Given the description of an element on the screen output the (x, y) to click on. 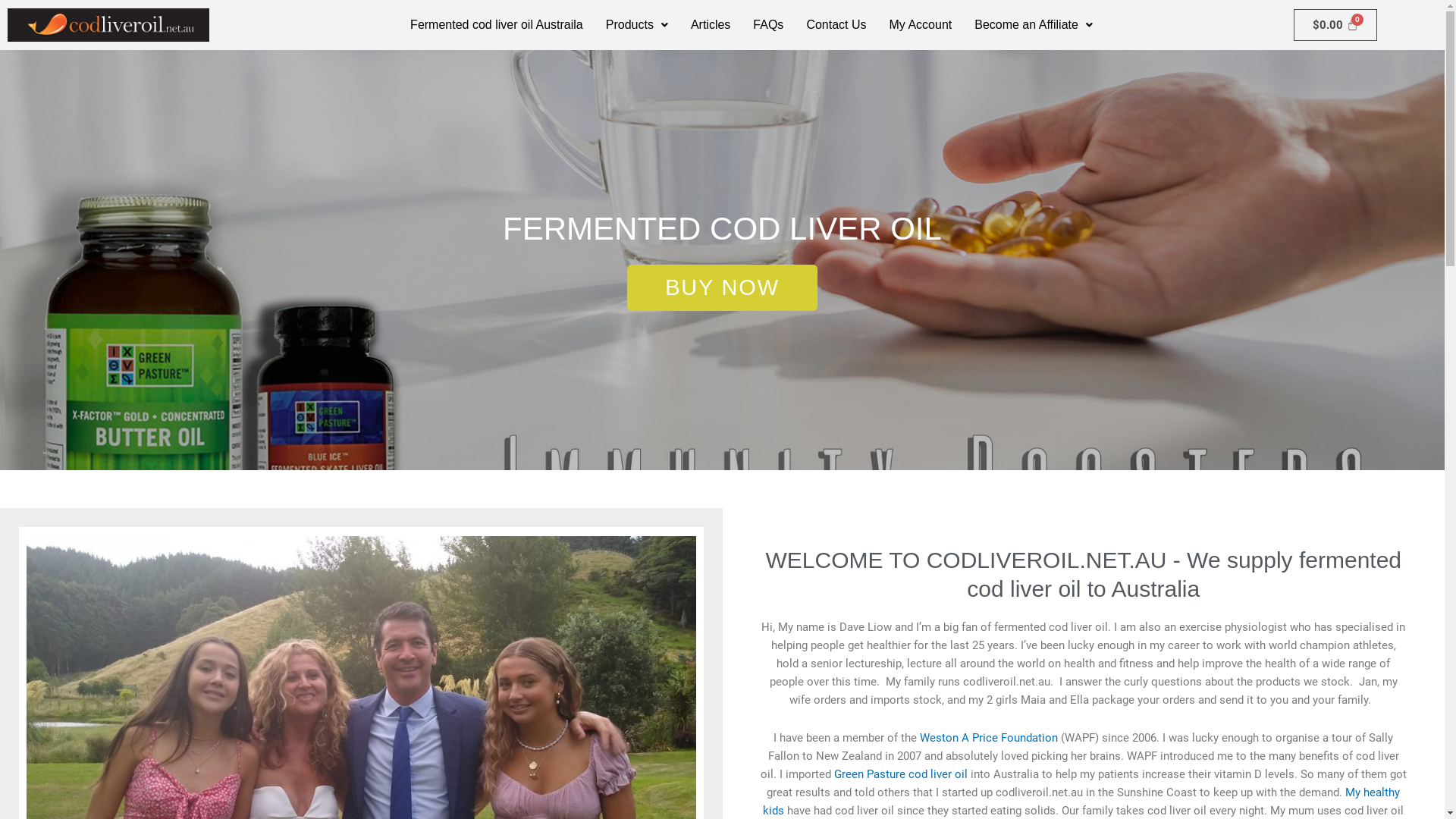
Fermented cod liver oil Austraila Element type: text (496, 24)
Green Pasture cod liver oil Element type: text (902, 774)
BUY NOW Element type: text (722, 286)
FAQs Element type: text (767, 24)
Contact Us Element type: text (835, 24)
Products Element type: text (636, 24)
$0.00
Cart Element type: text (1335, 24)
My Account Element type: text (920, 24)
Become an Affiliate Element type: text (1033, 24)
Weston A Price Foundation Element type: text (988, 737)
My healthy kids Element type: text (1080, 801)
Articles Element type: text (710, 24)
